Given the description of an element on the screen output the (x, y) to click on. 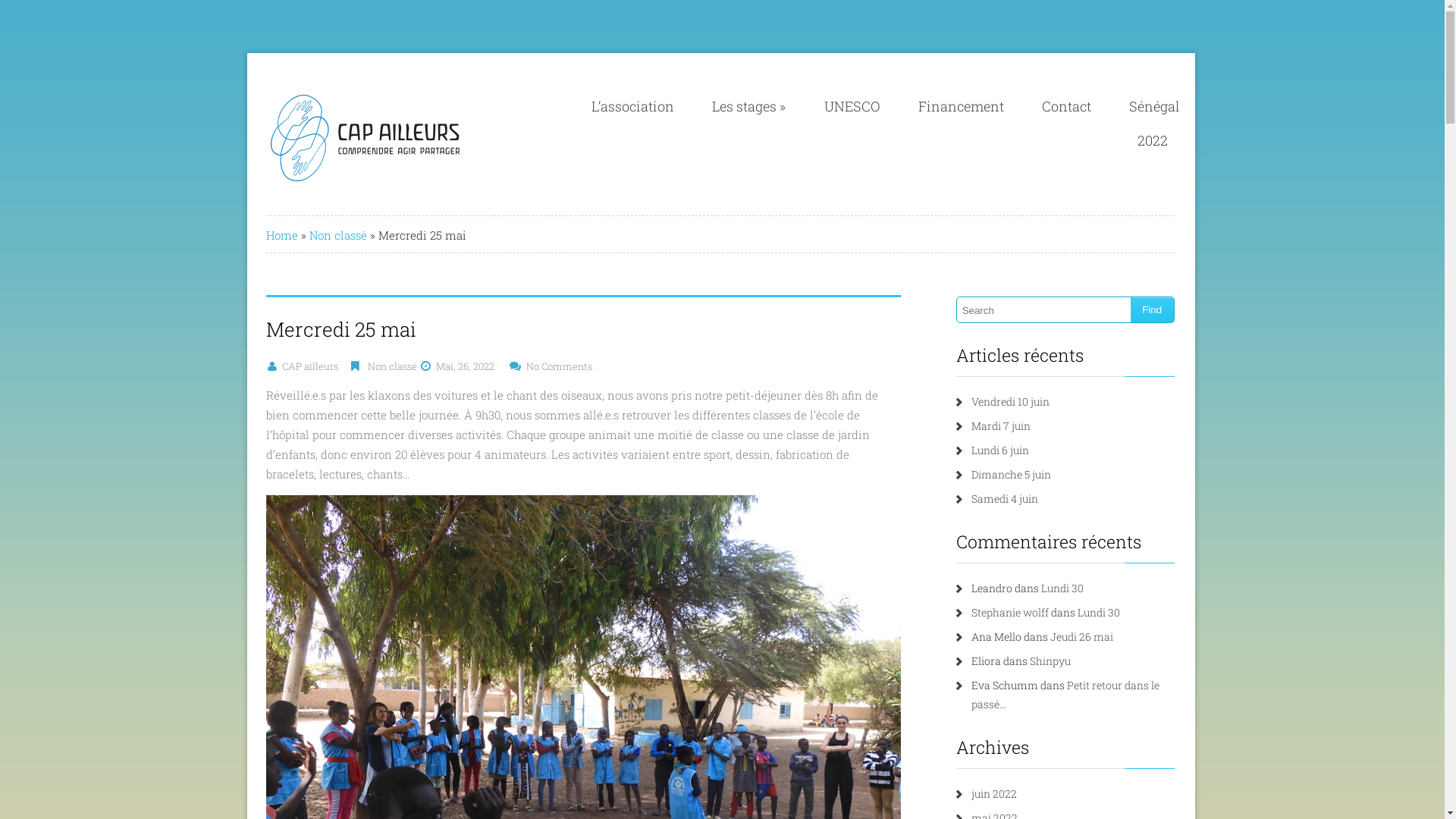
Shinpyu Element type: text (1049, 660)
Dimanche 5 juin Element type: text (1011, 474)
Lundi 30 Element type: text (1098, 612)
No Comments Element type: text (563, 366)
CAP ailleurs Element type: text (314, 366)
Jeudi 26 mai Element type: text (1081, 636)
juin 2022 Element type: text (993, 793)
Mardi 7 juin Element type: text (1000, 425)
Vendredi 10 juin Element type: text (1010, 401)
Financement Element type: text (960, 106)
Samedi 4 juin Element type: text (1004, 498)
Home Element type: text (282, 234)
Stephanie wolff Element type: text (1009, 612)
Lundi 30 Element type: text (1062, 587)
Lundi 6 juin Element type: text (1000, 449)
Contact Element type: text (1066, 106)
Find Element type: text (1151, 309)
UNESCO Element type: text (851, 106)
